Given the description of an element on the screen output the (x, y) to click on. 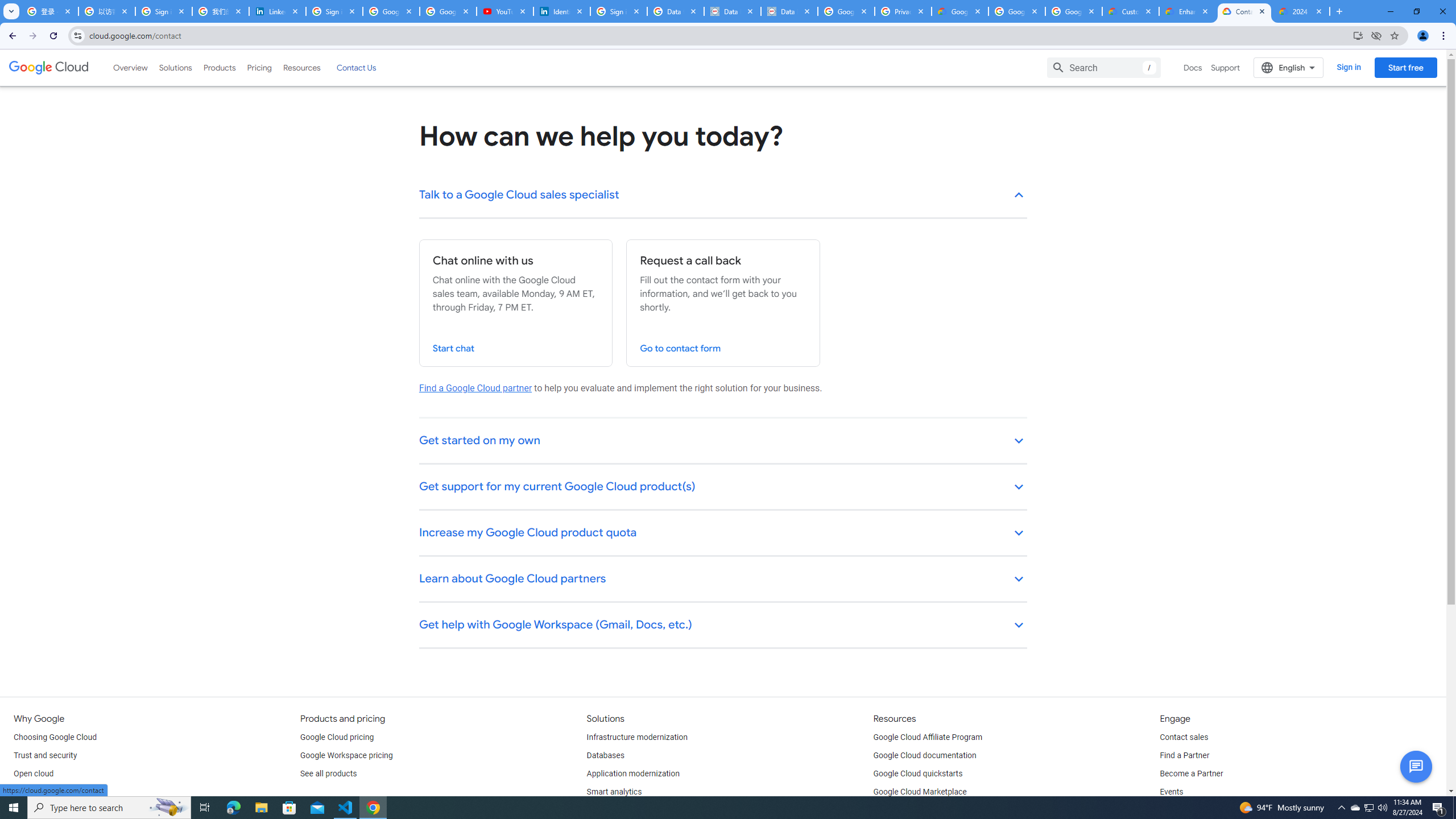
Support (1225, 67)
Google Cloud Affiliate Program (927, 737)
Google Cloud quickstarts (917, 773)
Install Google Cloud (1358, 35)
Resources (301, 67)
Smart analytics (614, 791)
Infrastructure modernization (637, 737)
Google Cloud (48, 67)
Sign in - Google Accounts (618, 11)
Events (1170, 791)
Contact Us (355, 67)
Start free (1405, 67)
You (1422, 35)
